Given the description of an element on the screen output the (x, y) to click on. 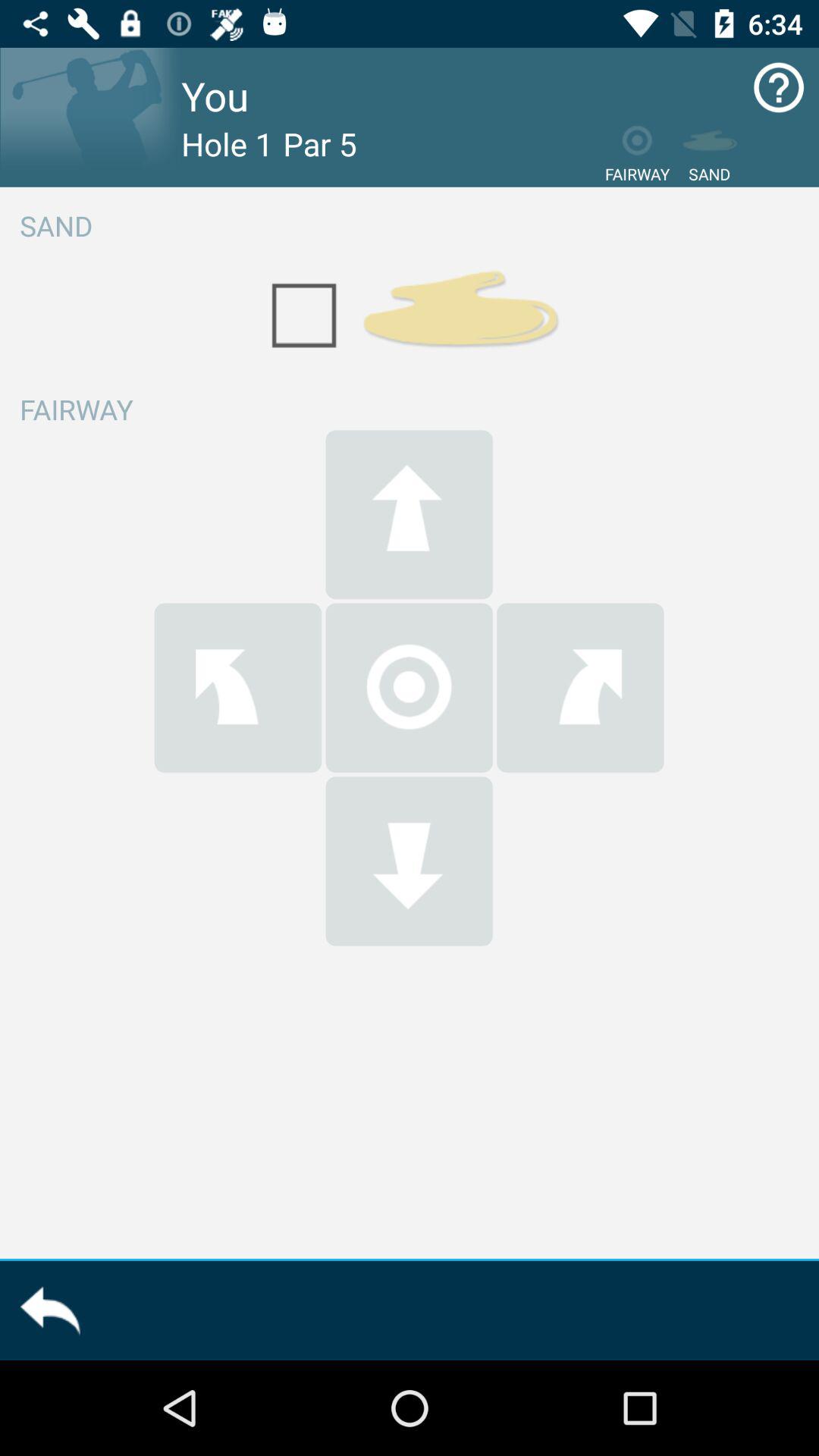
go down (408, 861)
